Given the description of an element on the screen output the (x, y) to click on. 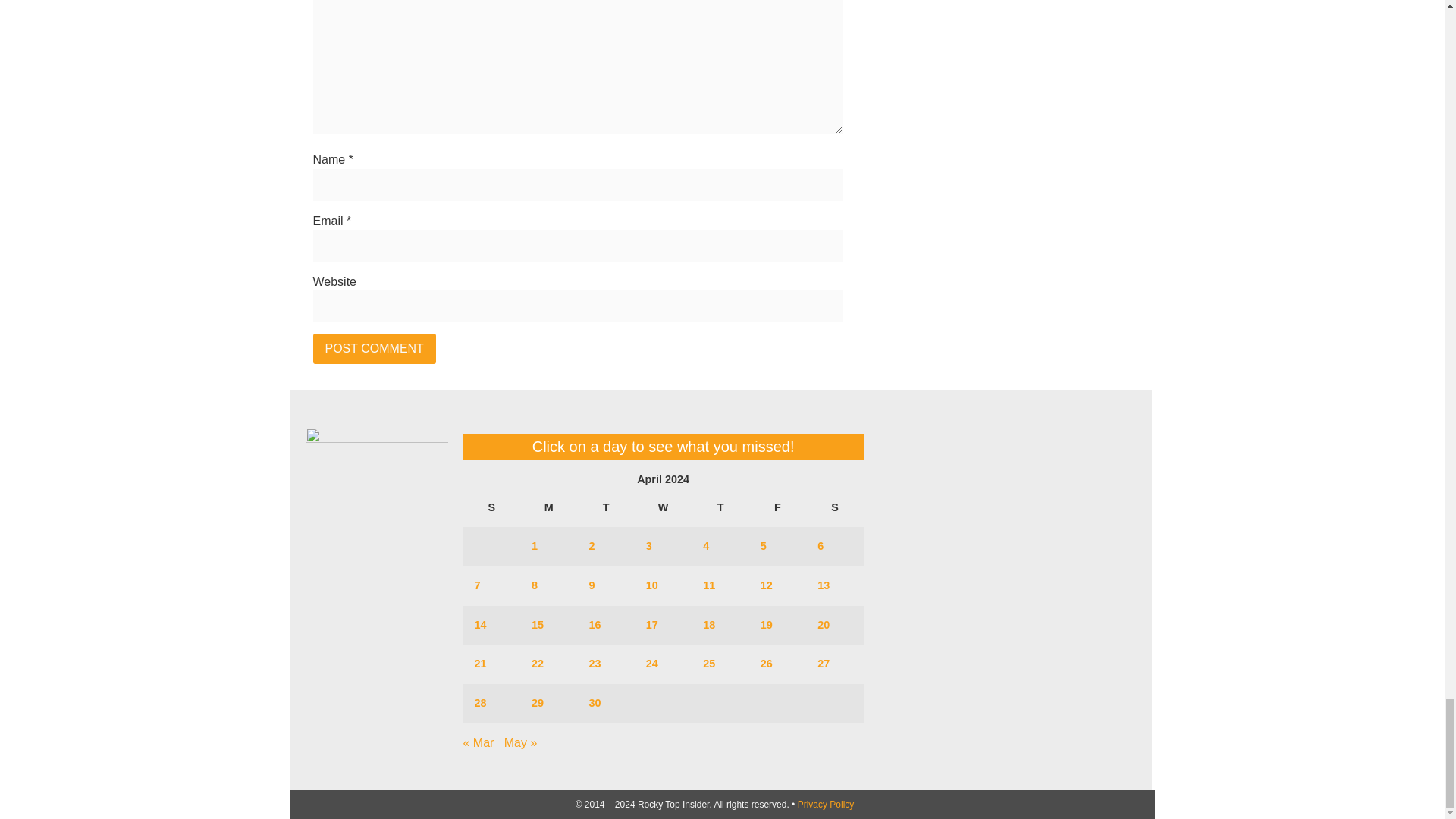
Friday (777, 507)
Sunday (491, 507)
Post Comment (374, 348)
Monday (547, 507)
Wednesday (662, 507)
Tuesday (604, 507)
Saturday (834, 507)
Thursday (719, 507)
